Given the description of an element on the screen output the (x, y) to click on. 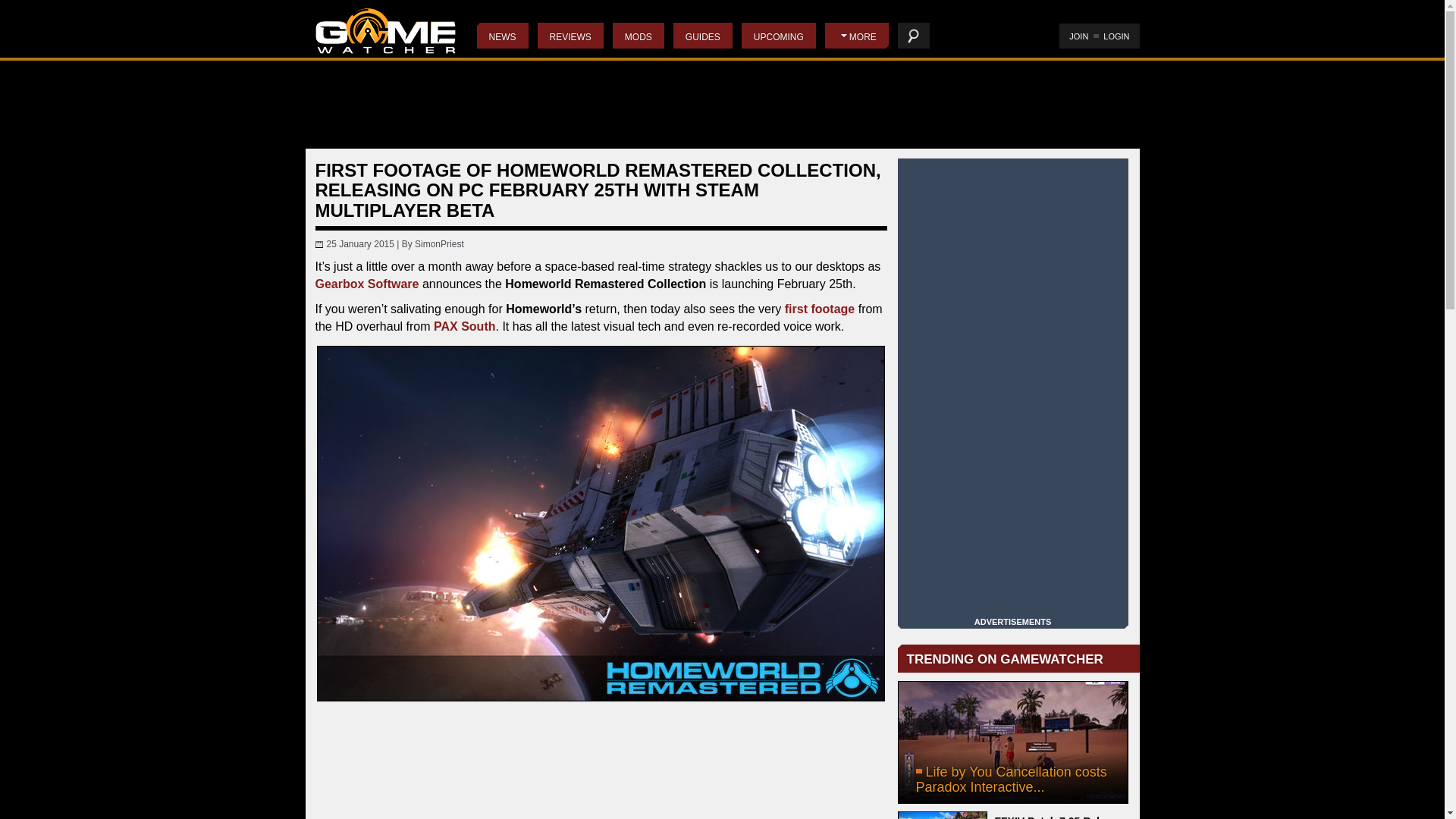
GUIDES (702, 35)
MODS (637, 35)
JOIN (1078, 36)
first footage (819, 308)
MORE (856, 35)
NEWS (501, 35)
Gearbox Software (367, 283)
SimonPriest (439, 244)
REVIEWS (569, 35)
LOGIN (1116, 36)
UPCOMING (778, 35)
PAX South (464, 326)
